Given the description of an element on the screen output the (x, y) to click on. 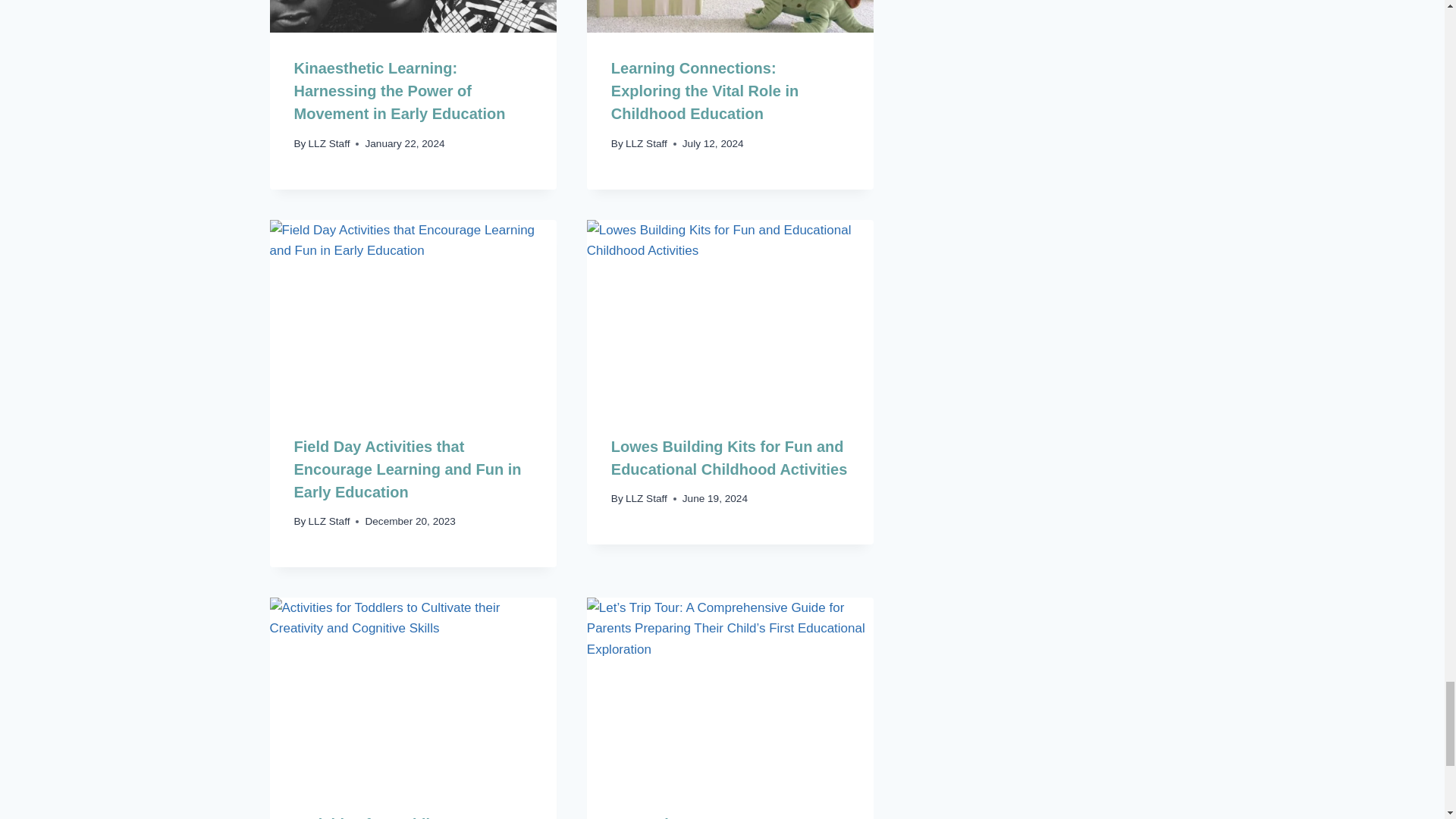
LLZ Staff (329, 143)
LLZ Staff (329, 521)
LLZ Staff (646, 143)
